Given the description of an element on the screen output the (x, y) to click on. 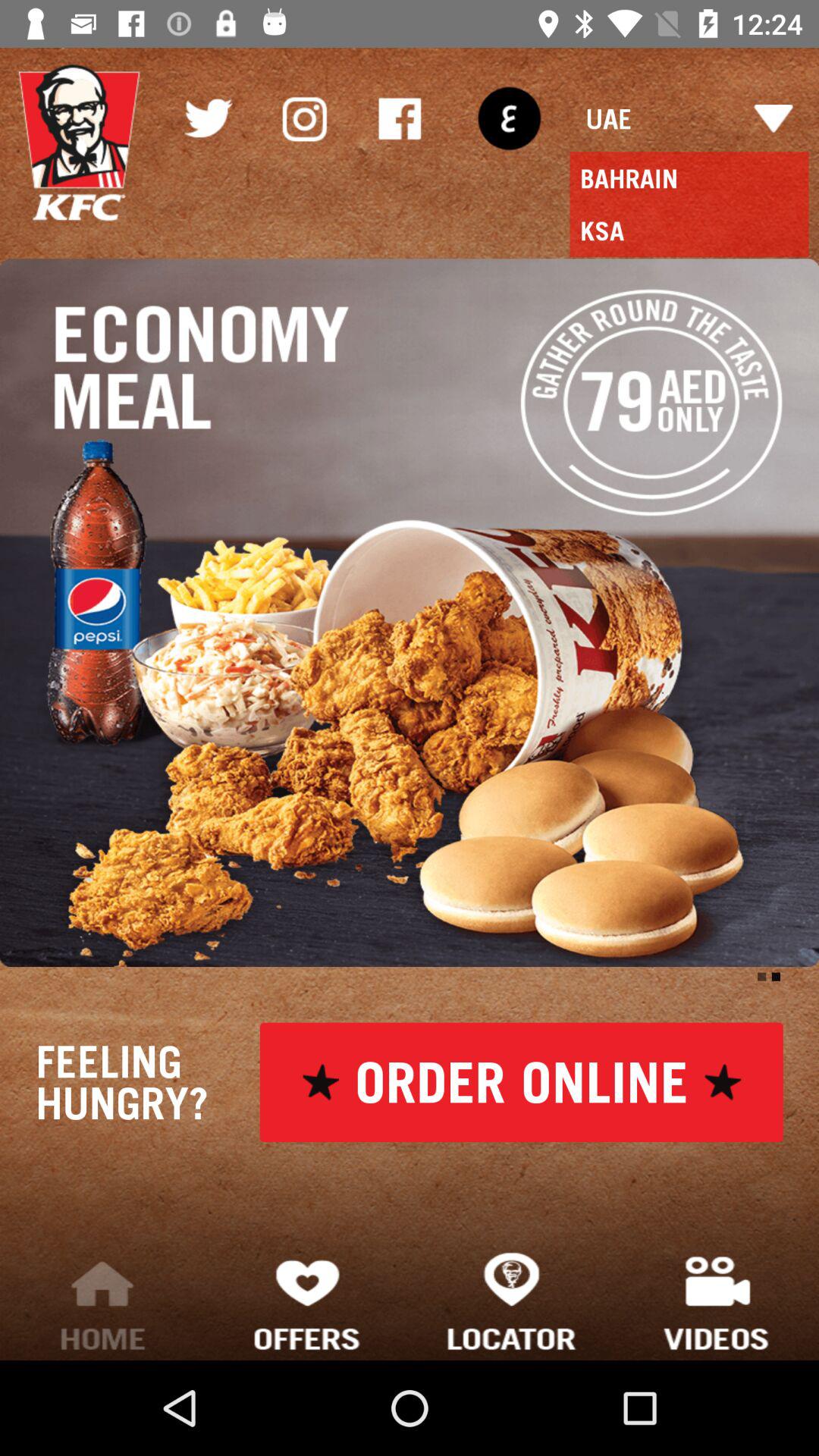
choose item above ksa (509, 118)
